Given the description of an element on the screen output the (x, y) to click on. 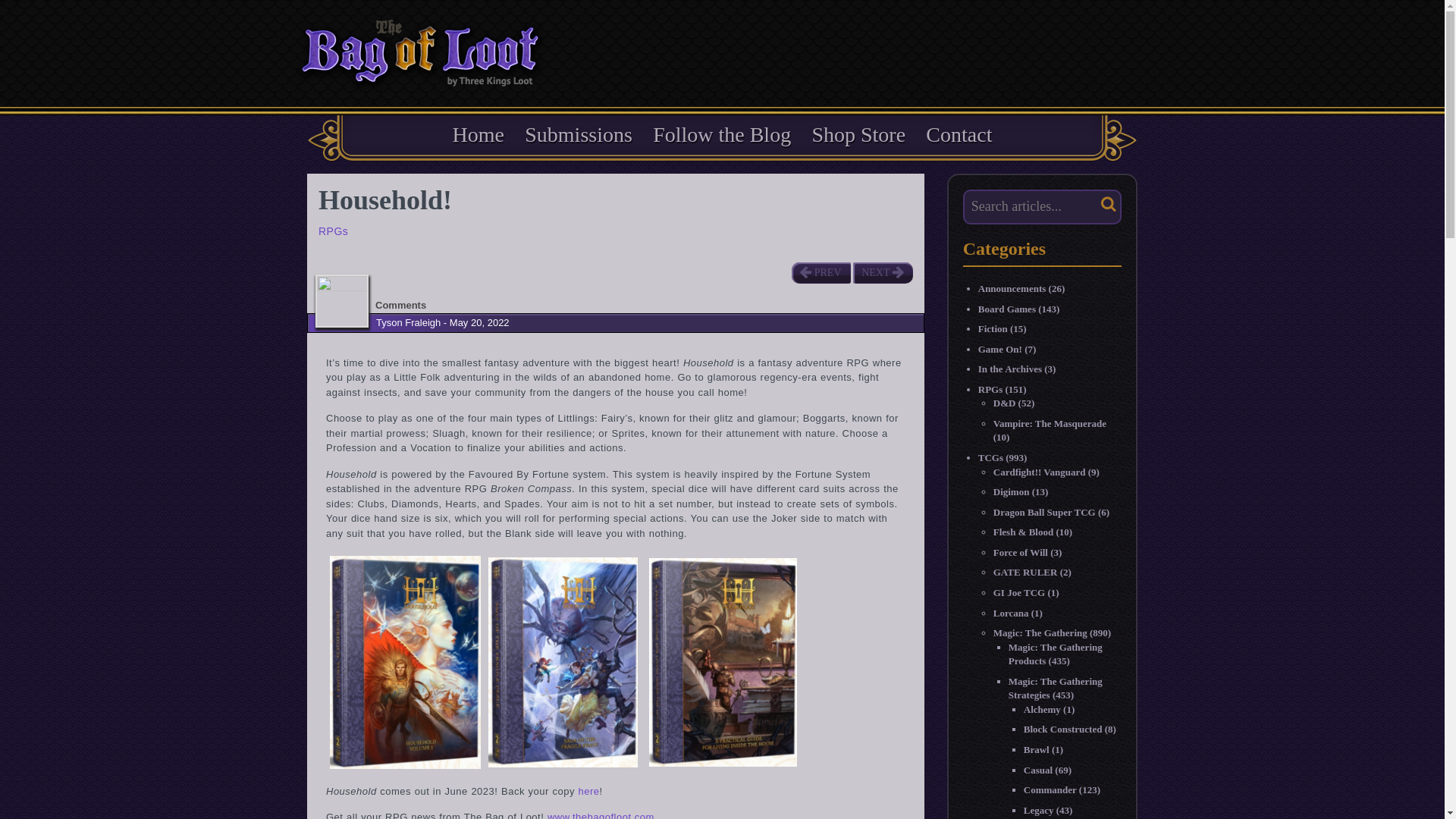
Game On! (1000, 348)
Vampire: The Masquerade (1049, 423)
Fiction (992, 328)
Digimon (1010, 491)
Shop Store (858, 134)
Cardfight!! Vanguard (1039, 471)
PREV (820, 272)
Announcements (1012, 288)
NEXT (881, 272)
RPGs (990, 389)
RPGs (332, 231)
TCGs (990, 457)
Contact (959, 134)
www.thebagofloot.com (600, 815)
Follow the Blog (721, 134)
